Given the description of an element on the screen output the (x, y) to click on. 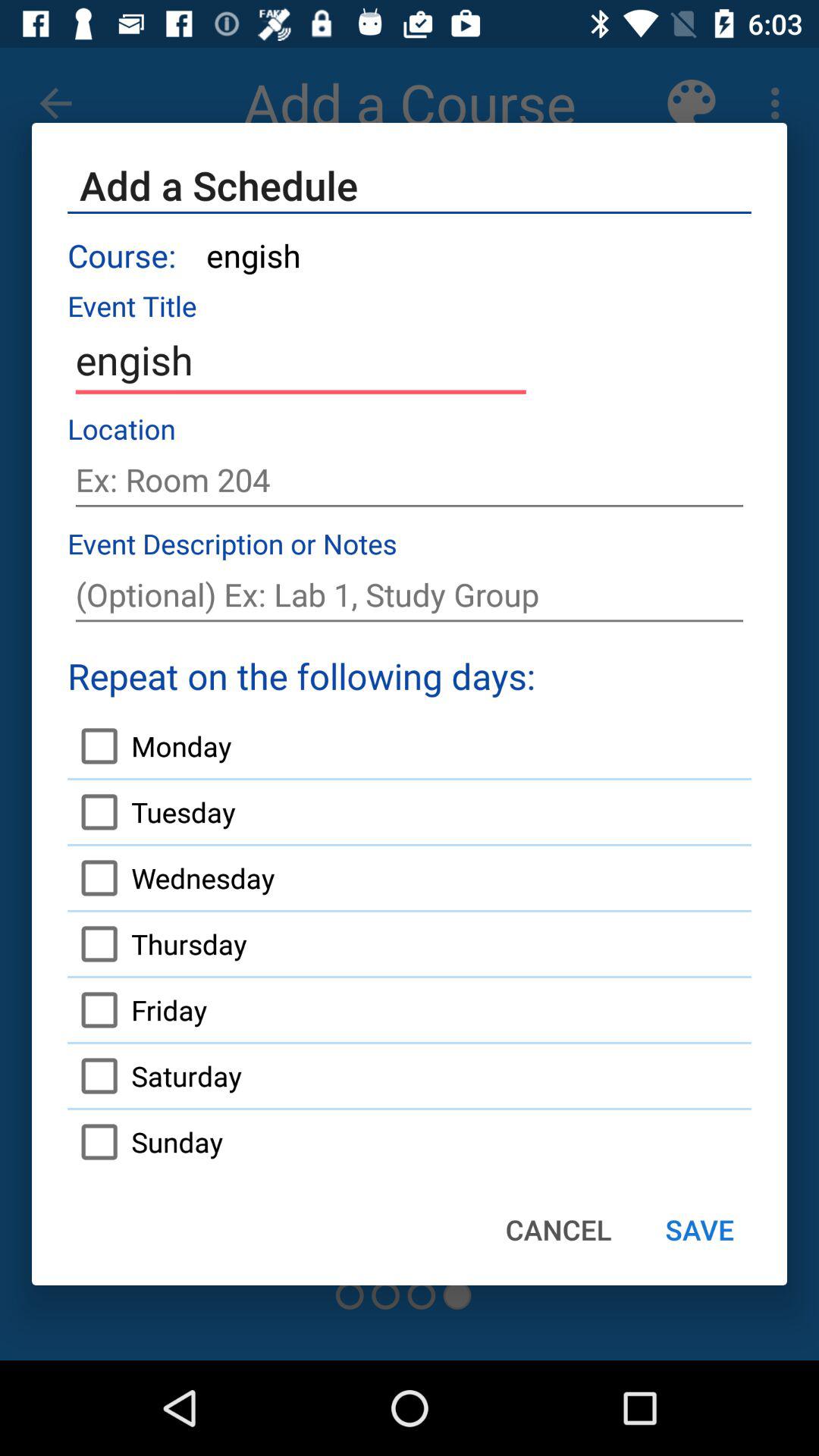
enter location (409, 479)
